Given the description of an element on the screen output the (x, y) to click on. 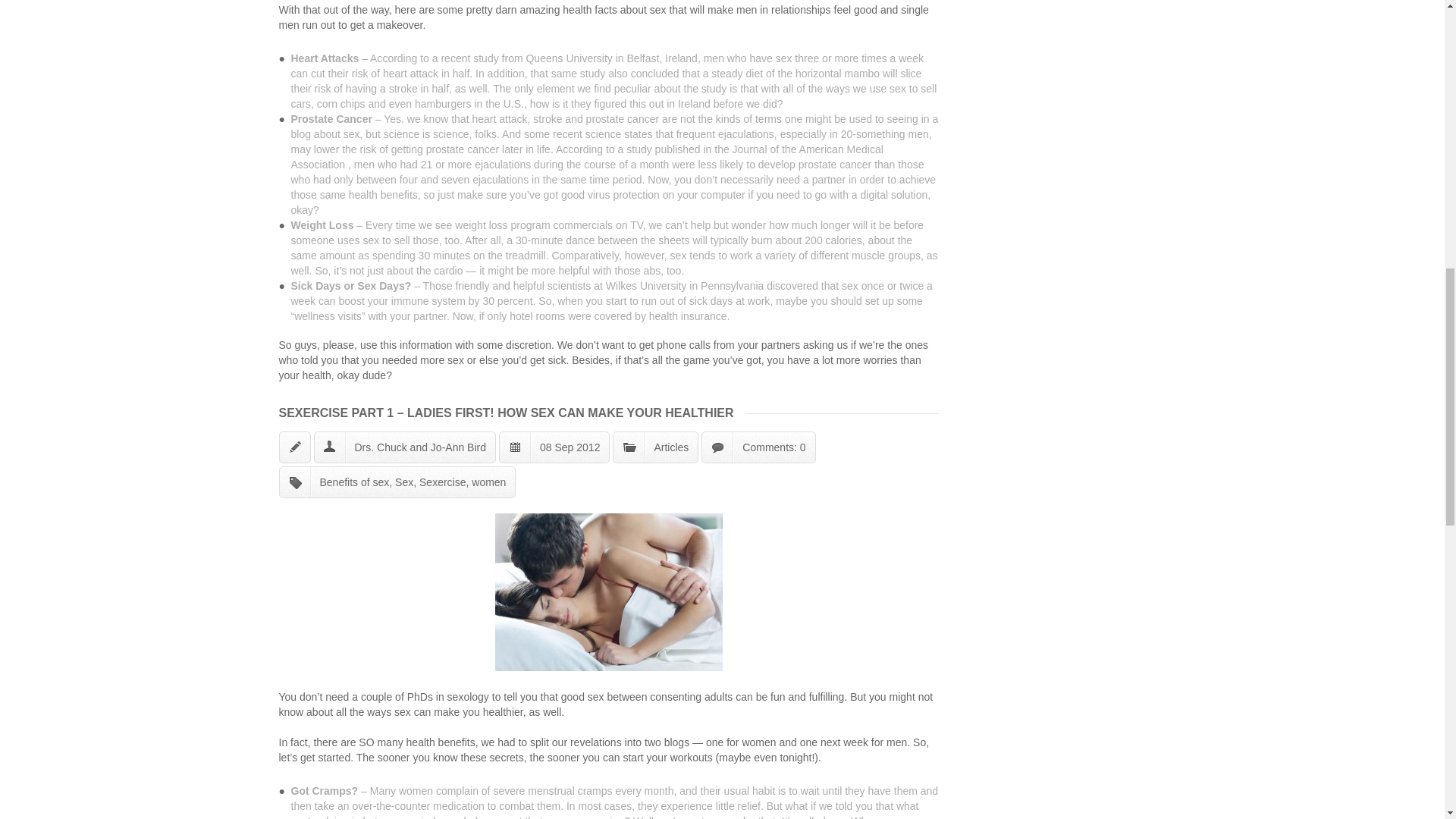
Sexercise (442, 481)
Drs. Chuck and Jo-Ann Bird (420, 447)
Articles (670, 447)
women (488, 481)
Comments: 0 (773, 447)
Sex (403, 481)
Posts by Drs. Chuck and Jo-Ann Bird (420, 447)
Benefits of sex (355, 481)
